Given the description of an element on the screen output the (x, y) to click on. 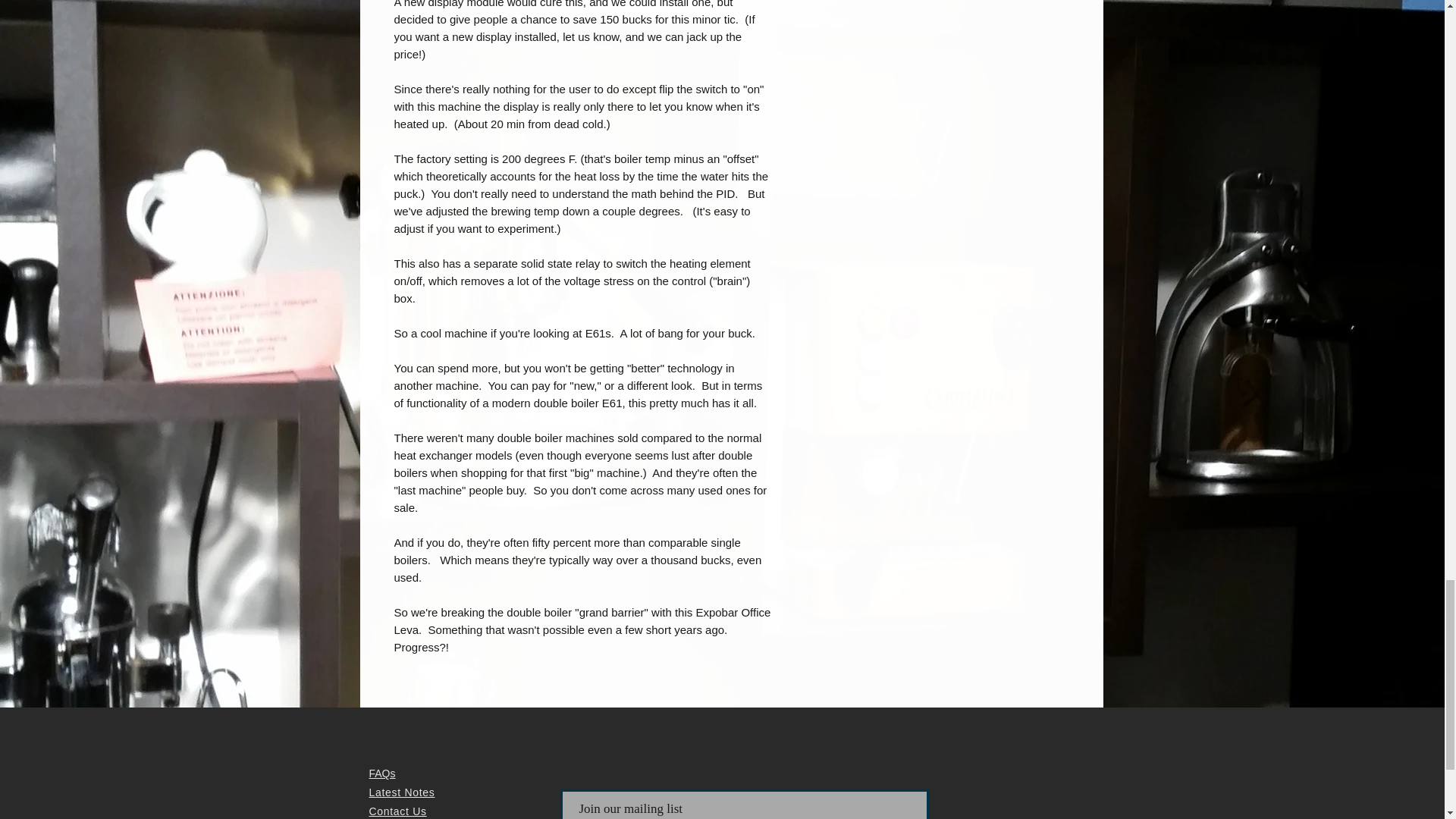
FAQs (381, 773)
Contact Us (397, 811)
Latest Notes (400, 792)
